Given the description of an element on the screen output the (x, y) to click on. 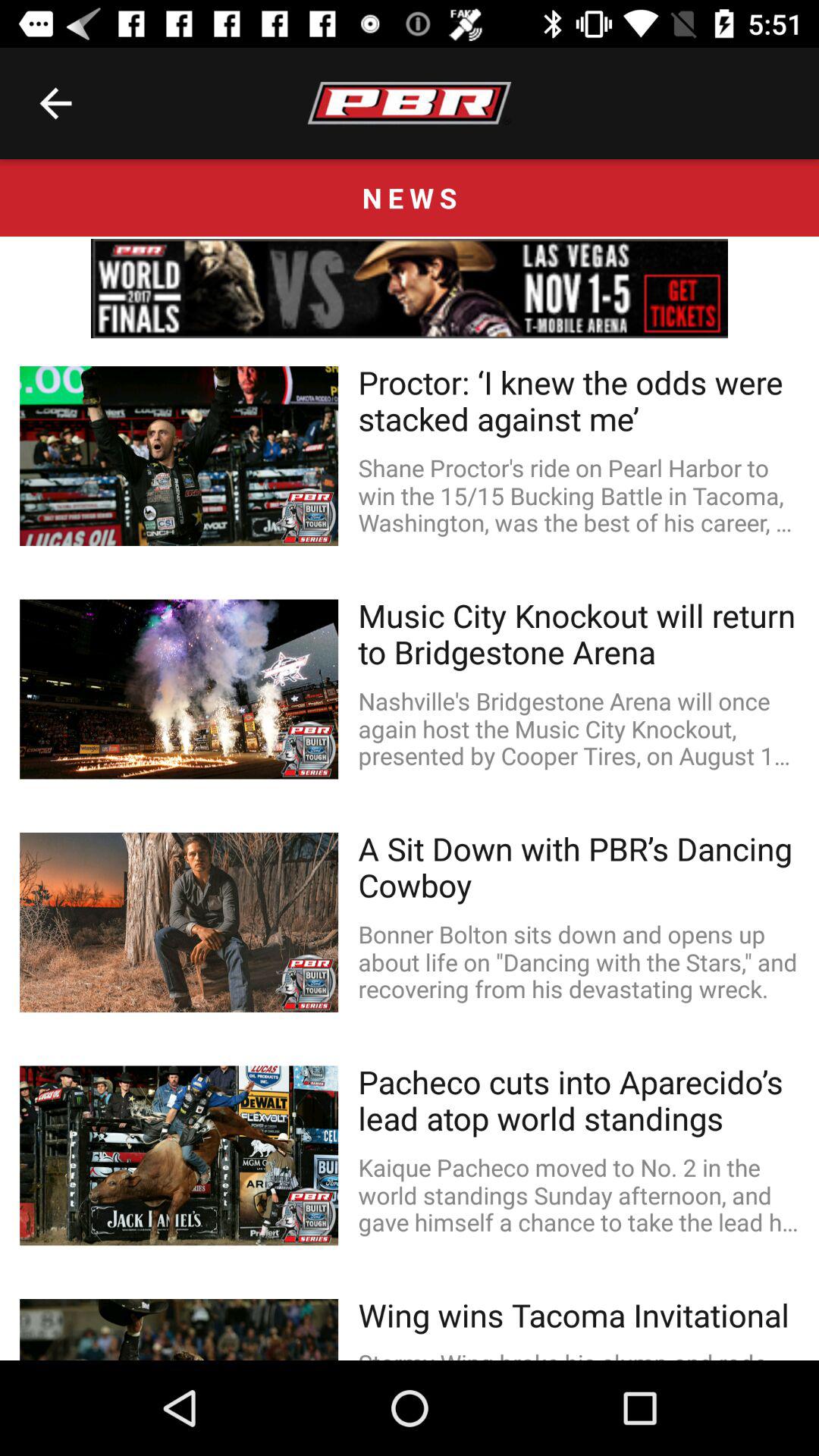
go to linked page (409, 288)
